Given the description of an element on the screen output the (x, y) to click on. 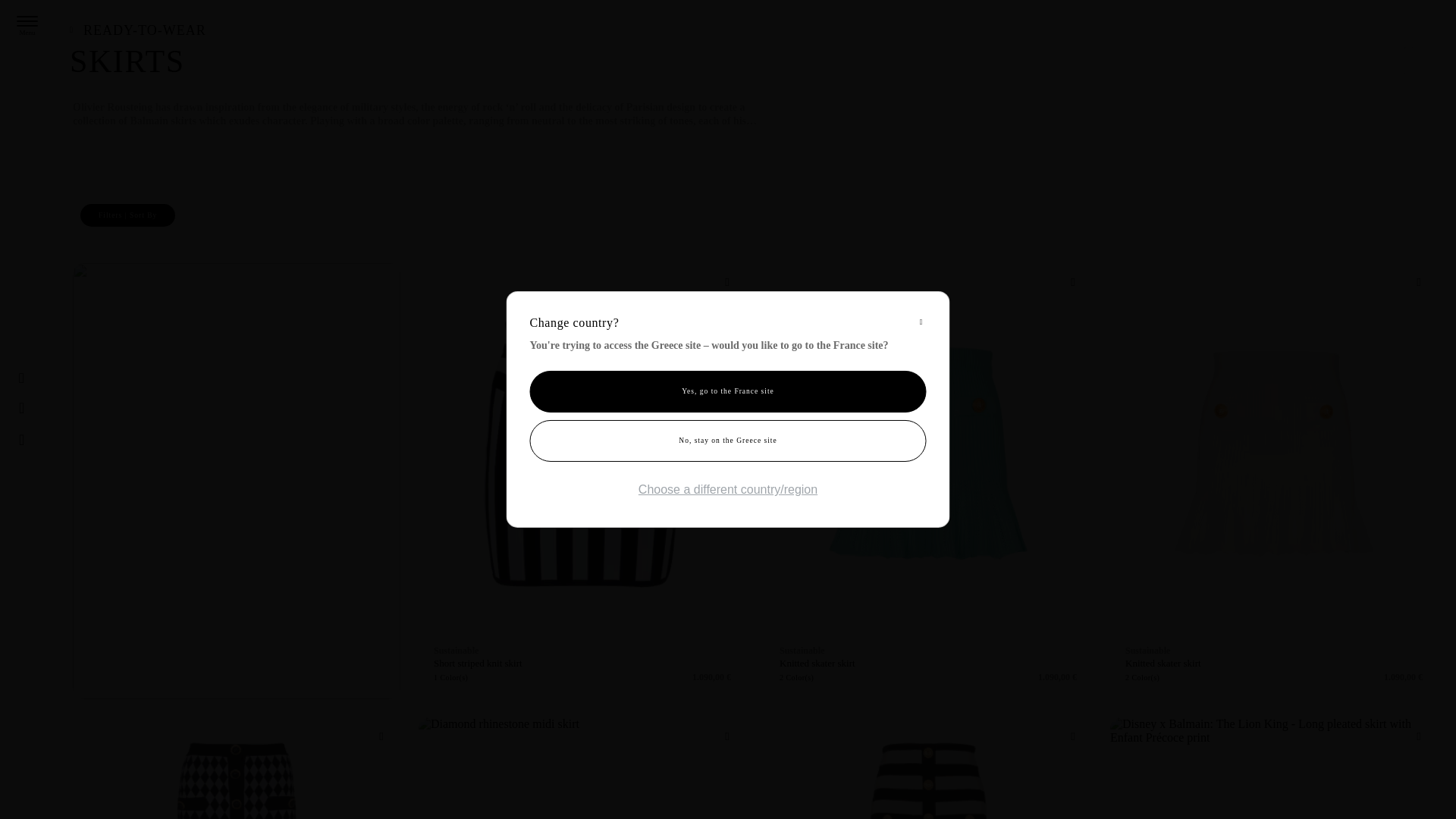
Two-tone buttoned knit midi skirt, black (928, 768)
Diamond jacquard midi skirt, black (236, 768)
Search (26, 408)
Diamond rhinestone midi skirt, black (582, 768)
Shopping bag: 0 Items (56, 440)
Menu (26, 20)
